Given the description of an element on the screen output the (x, y) to click on. 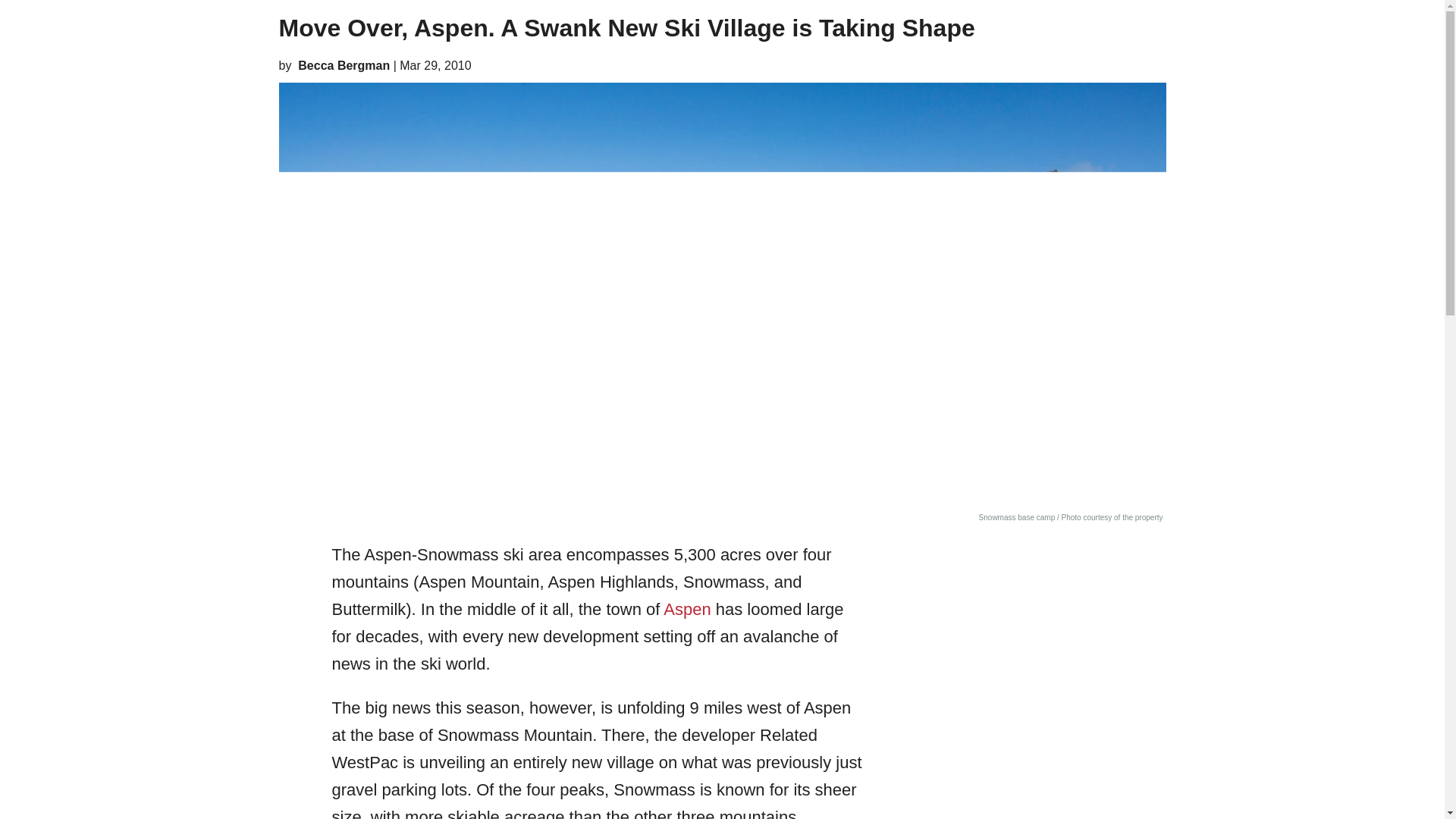
Aspen (686, 609)
